Given the description of an element on the screen output the (x, y) to click on. 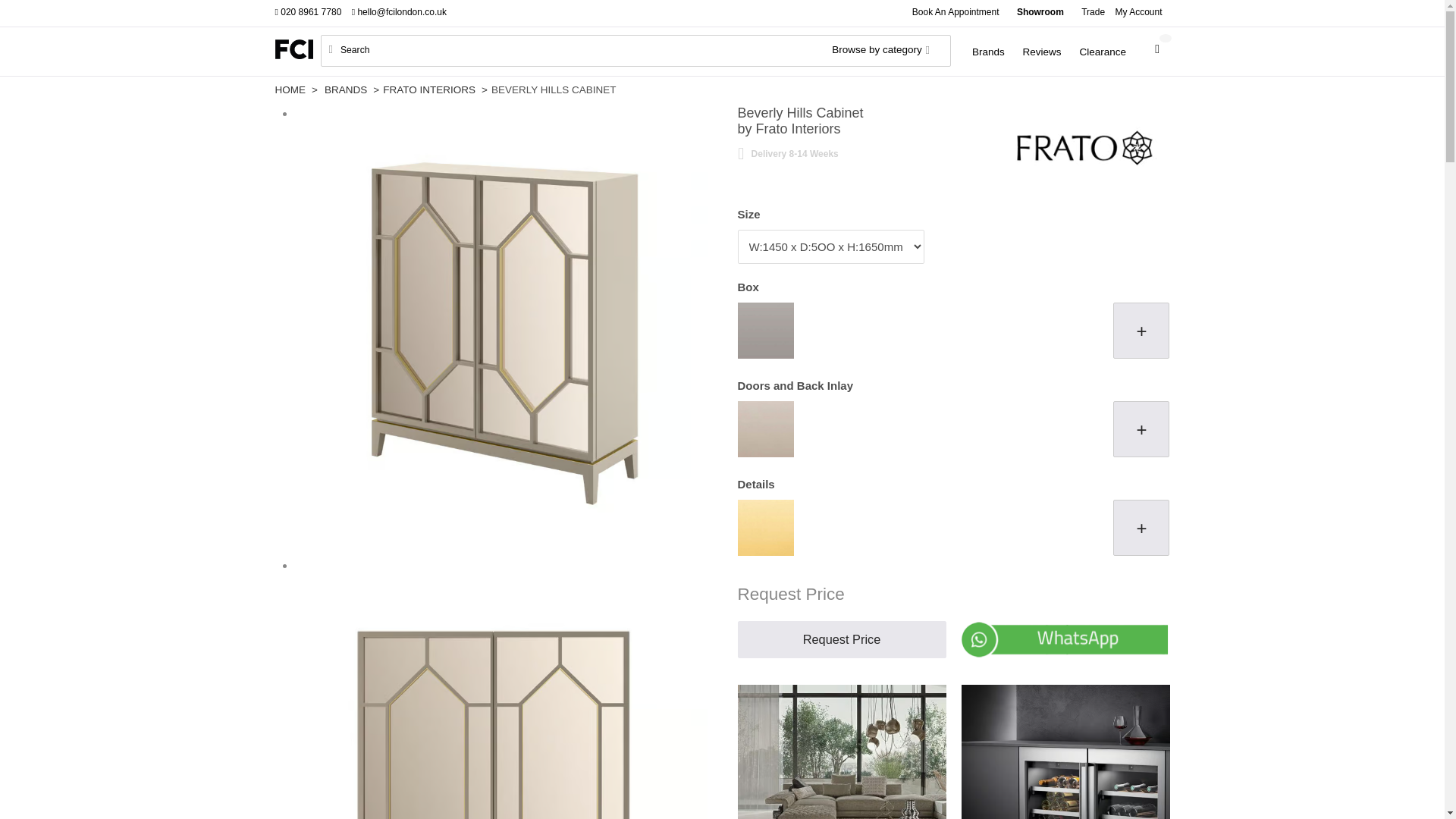
Beverly Hills Cabinet by Frato Interiors (494, 696)
Book An Appointment (955, 13)
My Account (1142, 13)
Trade (1093, 13)
020 8961 7780 (312, 13)
Showroom (1040, 13)
